Given the description of an element on the screen output the (x, y) to click on. 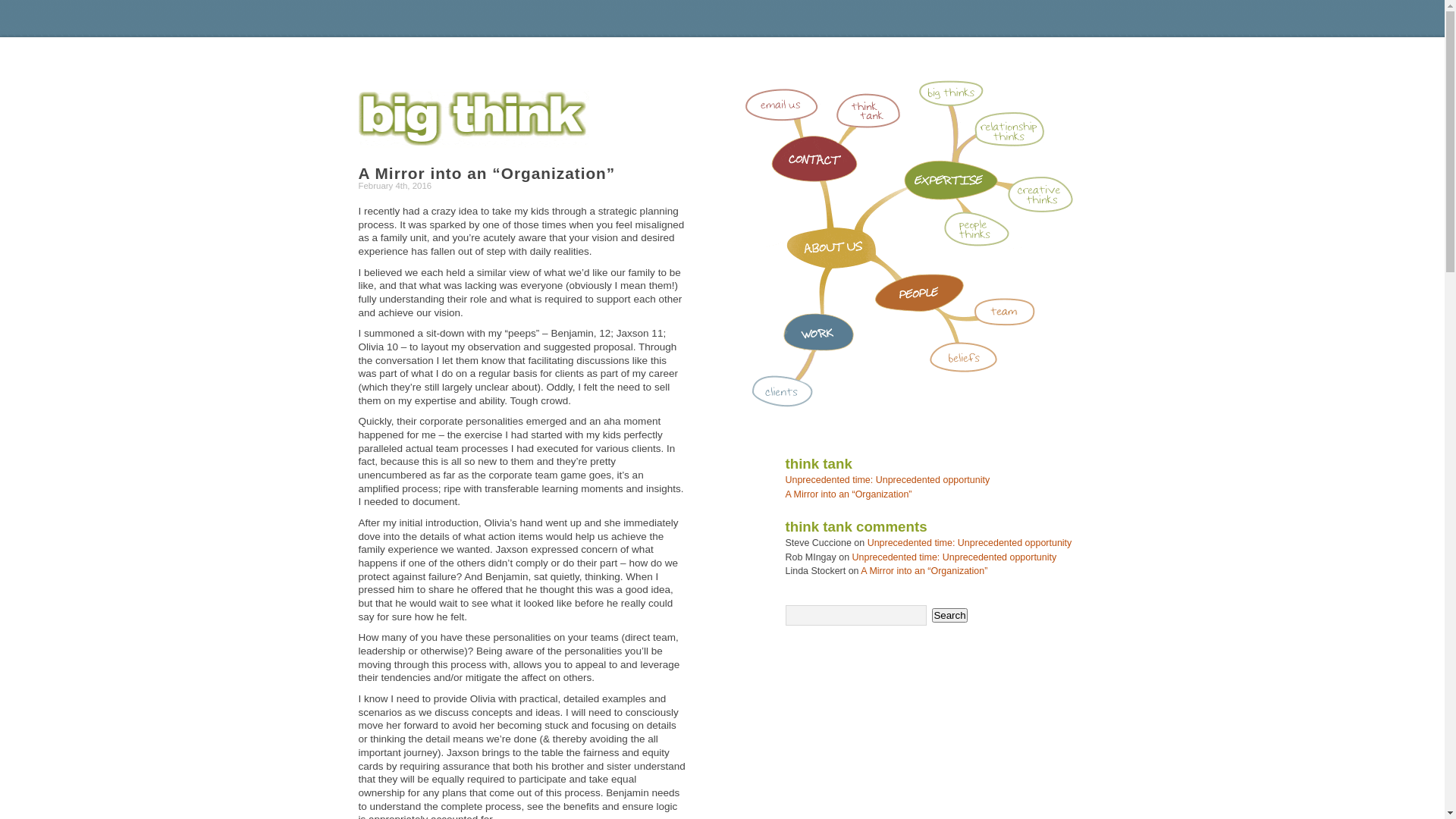
Search Element type: text (948, 615)
Unprecedented time: Unprecedented opportunity Element type: text (887, 479)
Unprecedented time: Unprecedented opportunity Element type: text (954, 557)
Unprecedented time: Unprecedented opportunity Element type: text (969, 542)
